Given the description of an element on the screen output the (x, y) to click on. 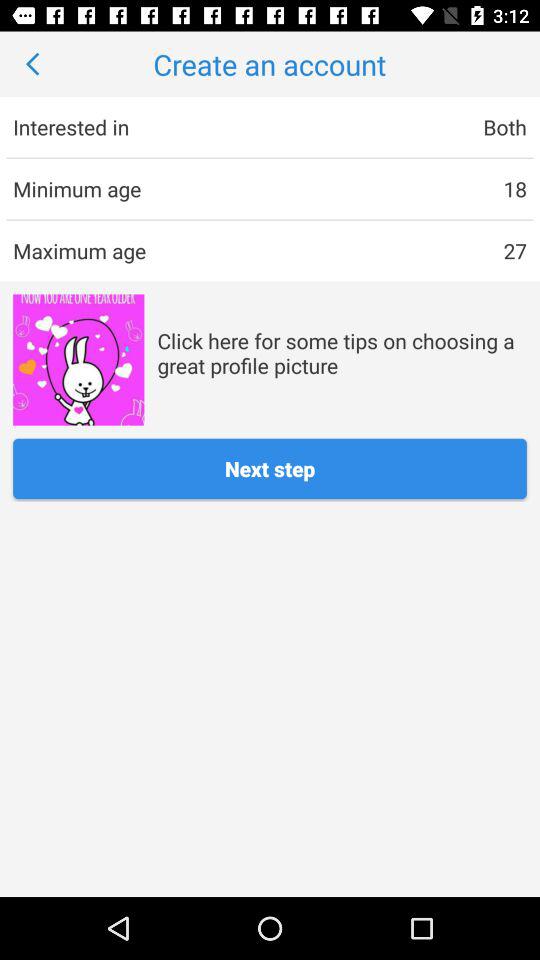
turn on app below maximum age item (78, 359)
